Given the description of an element on the screen output the (x, y) to click on. 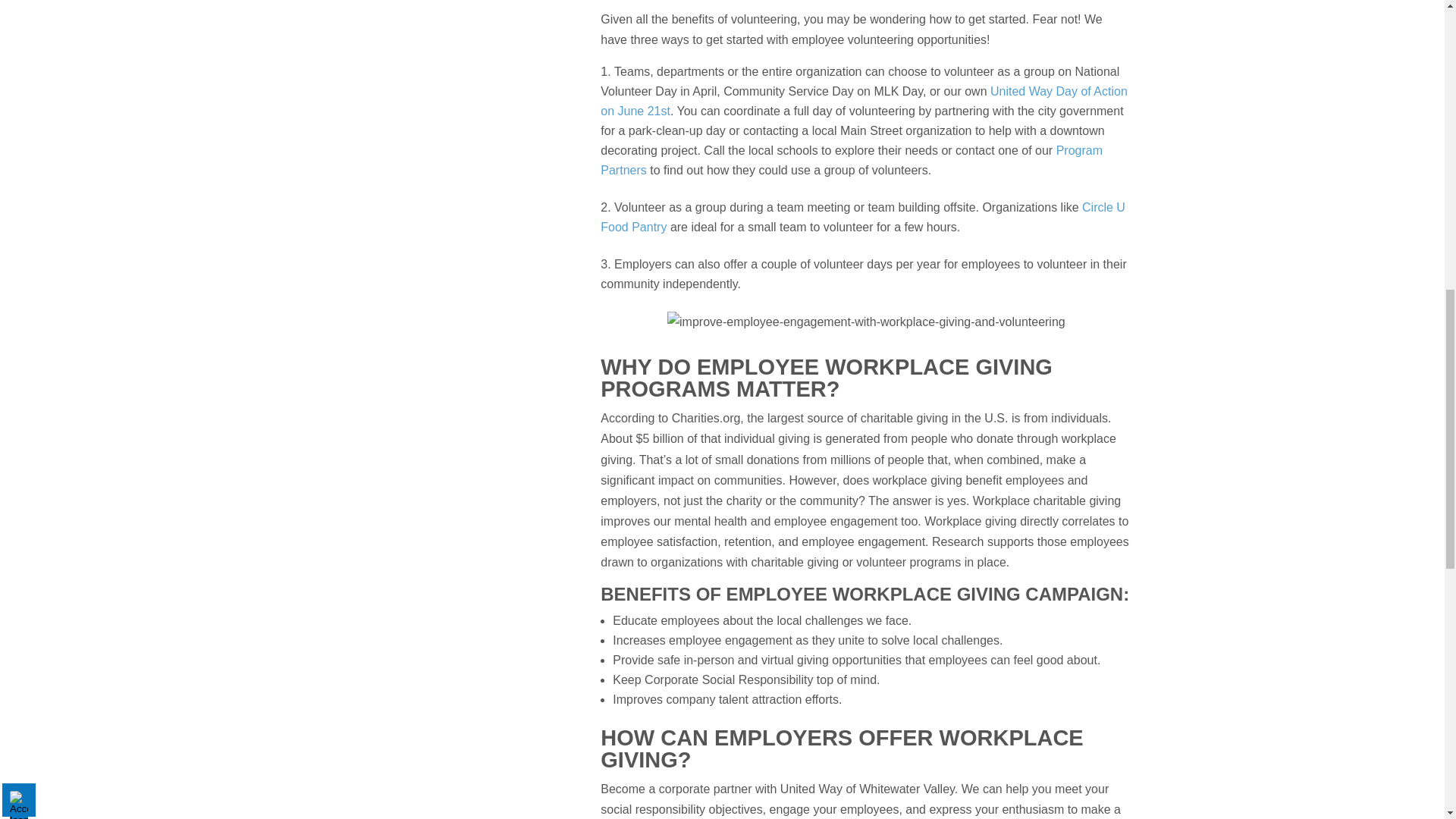
Circle U Food Pantry (862, 216)
United Way Day of Action on June 21st (862, 101)
Program Partners (850, 160)
